Given the description of an element on the screen output the (x, y) to click on. 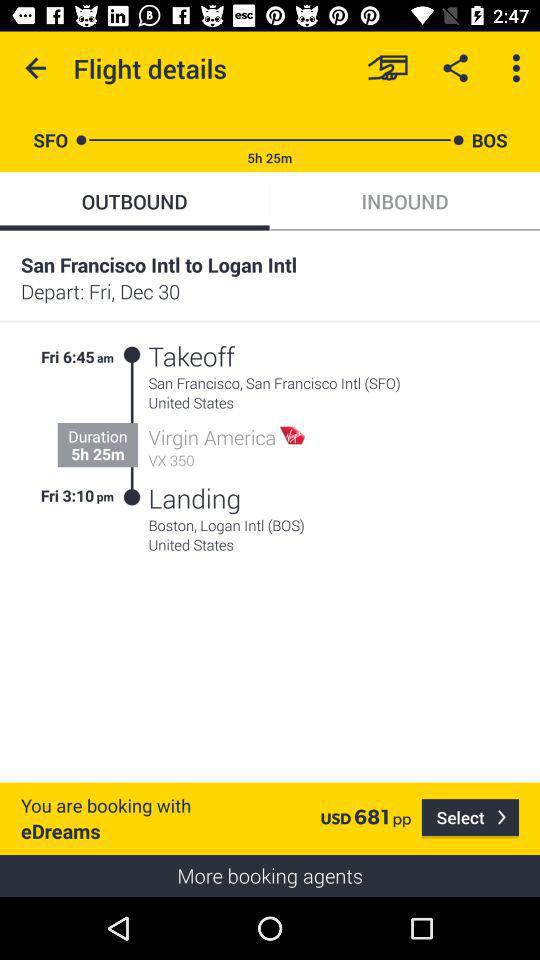
payment options (387, 67)
